Given the description of an element on the screen output the (x, y) to click on. 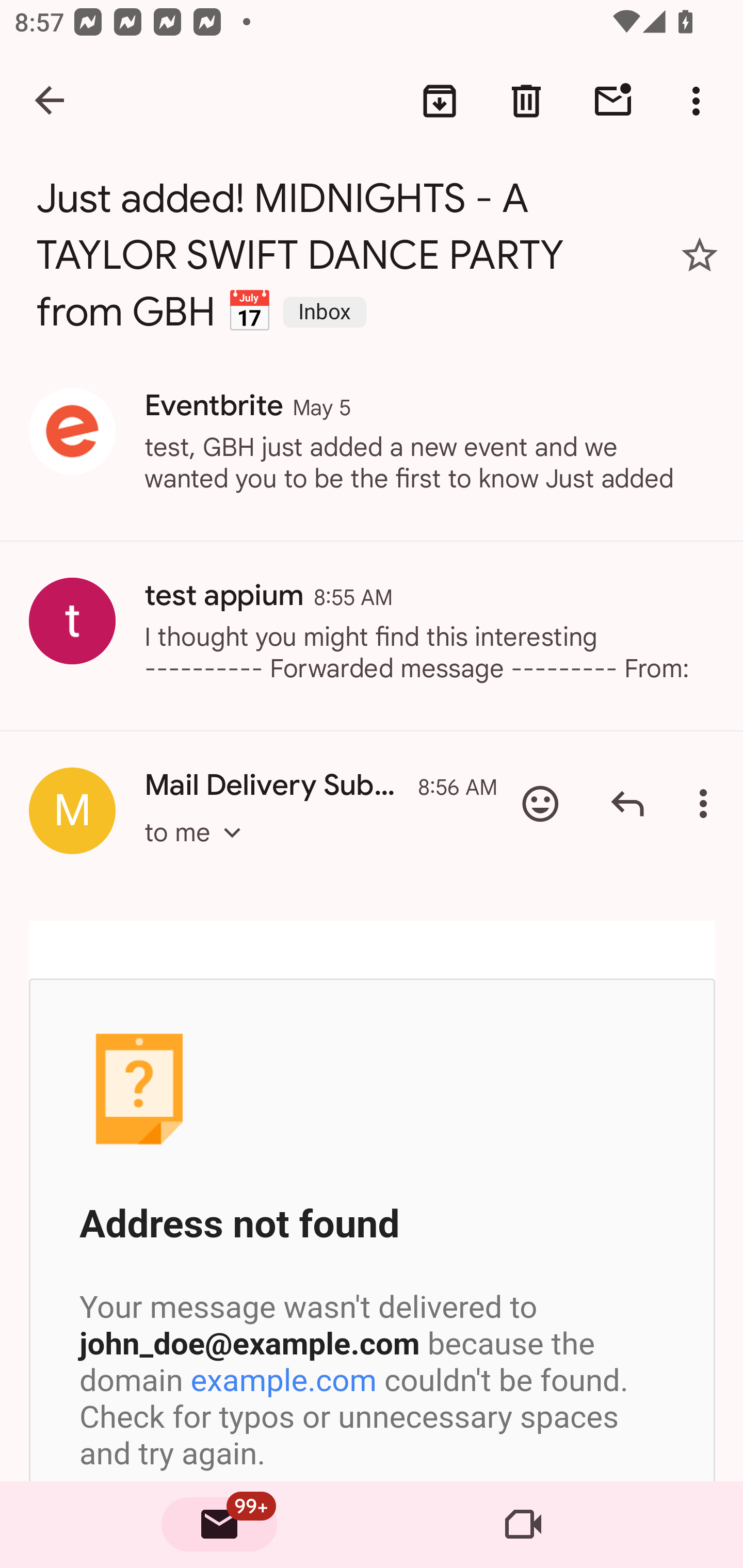
Navigate up (50, 101)
Archive (439, 101)
Delete (525, 101)
Mark unread (612, 101)
More options (699, 101)
Add star (699, 254)
Show contact information for Eventbrite (71, 431)
Show contact information for test appium (71, 620)
Add emoji reaction (540, 803)
Reply (626, 803)
More options (706, 803)
to me (199, 850)
Social LinkedIn 1 new (371, 1210)
Meet (523, 1524)
